Given the description of an element on the screen output the (x, y) to click on. 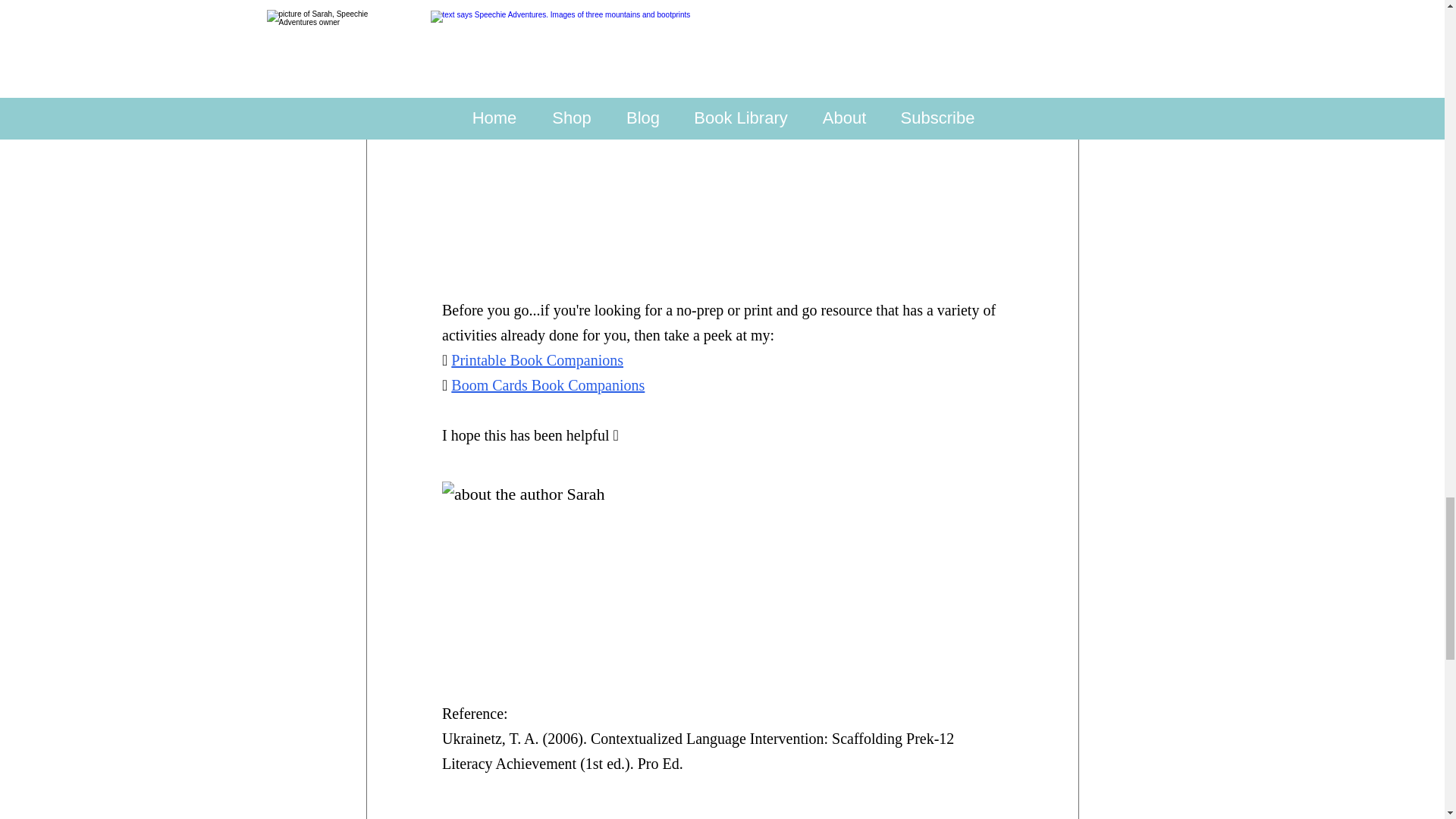
Boom Cards Book Companions (548, 384)
Printable Book Companions (537, 359)
